Given the description of an element on the screen output the (x, y) to click on. 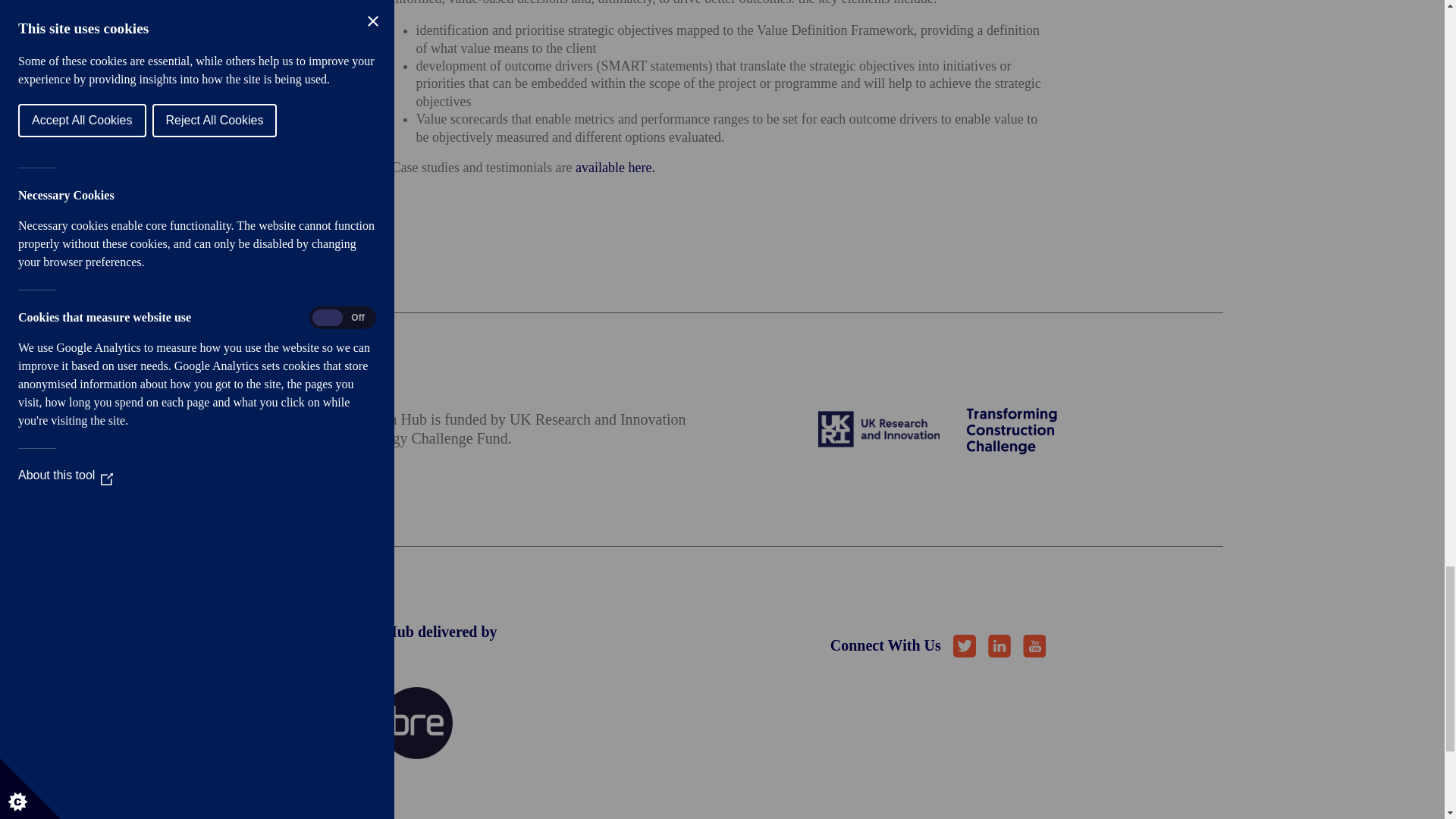
available here. (615, 167)
